Given the description of an element on the screen output the (x, y) to click on. 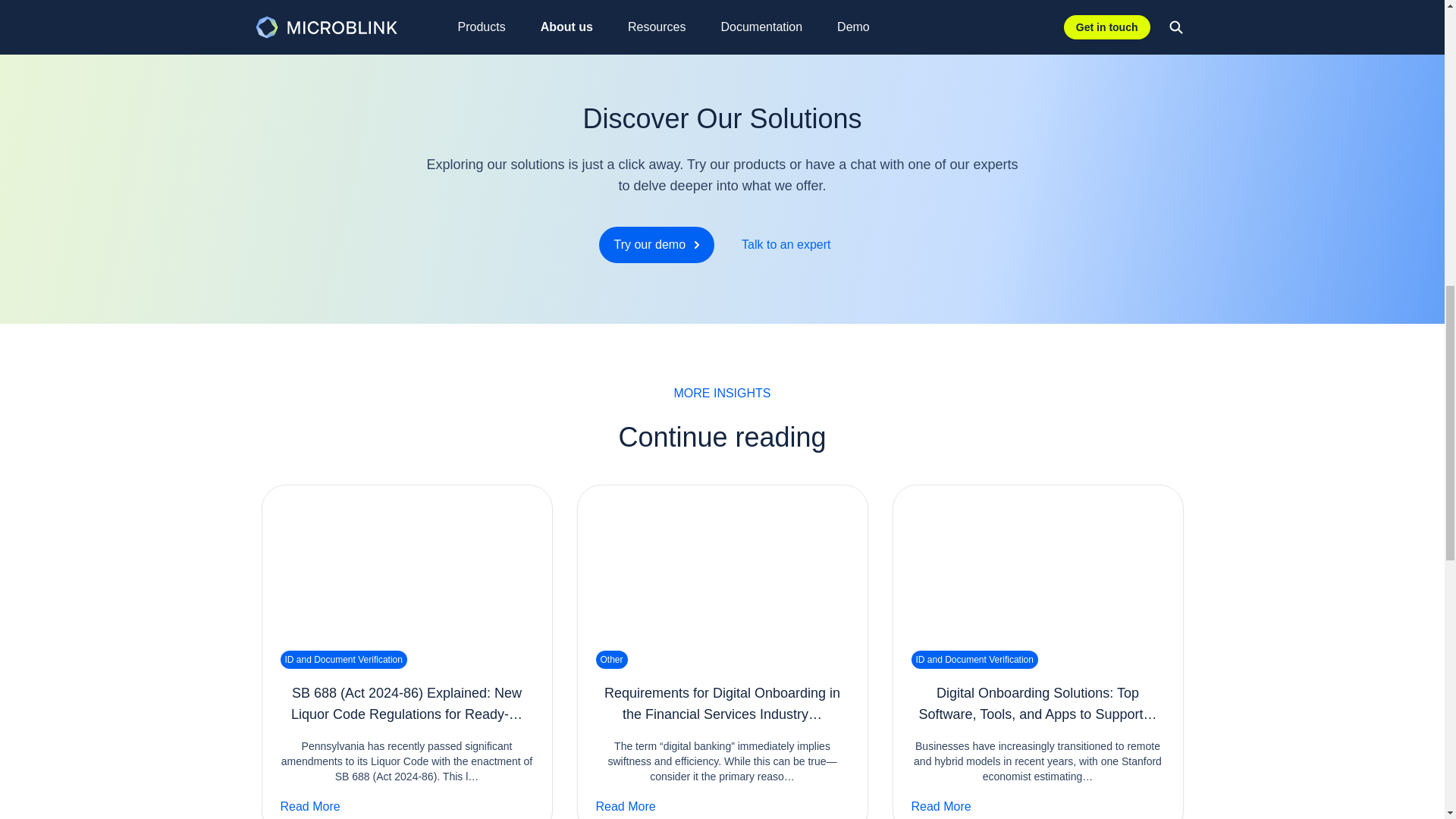
Try our demo (722, 244)
Talk to an expert (656, 244)
